Given the description of an element on the screen output the (x, y) to click on. 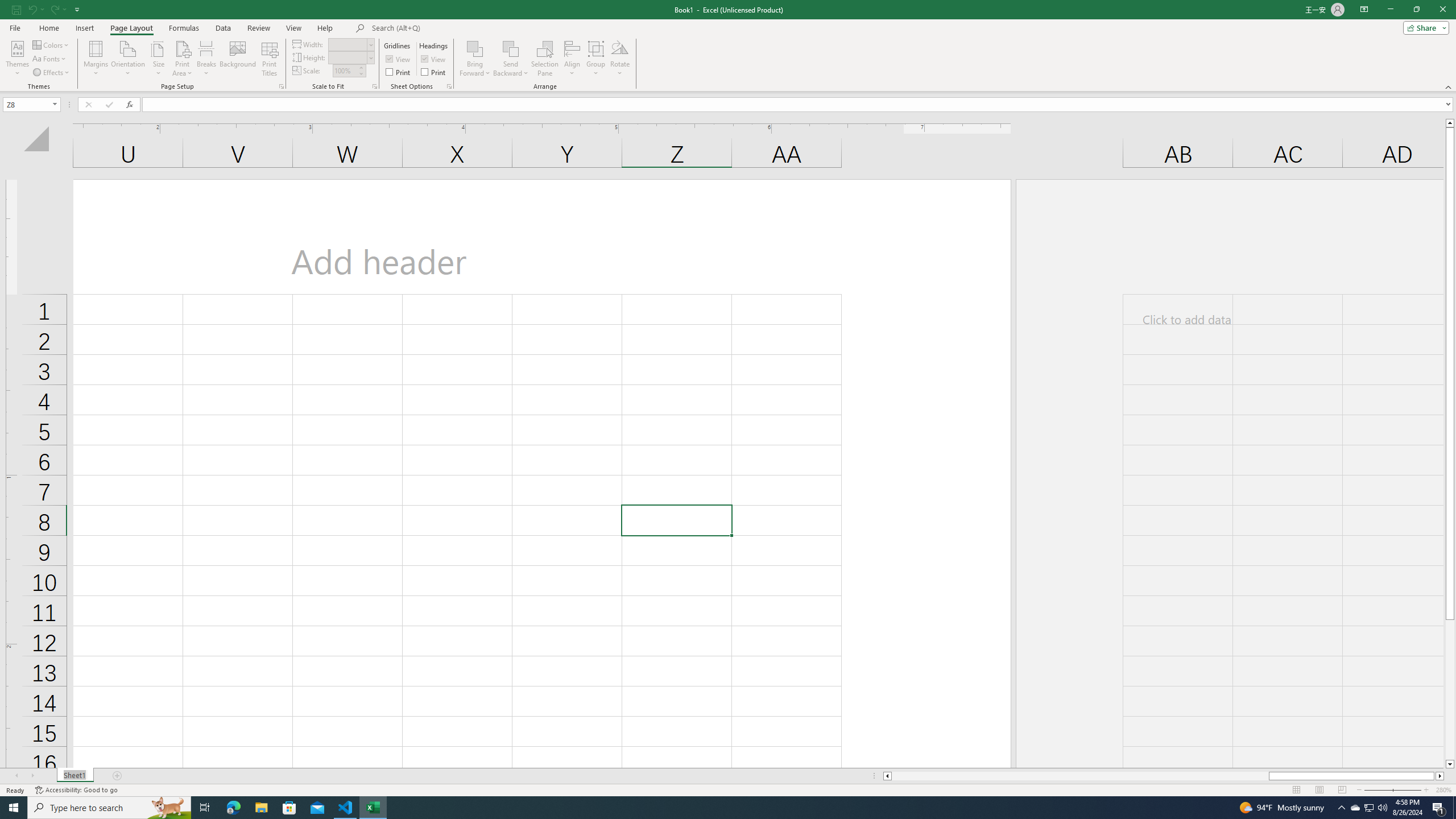
Size (158, 58)
Scale (344, 70)
